Given the description of an element on the screen output the (x, y) to click on. 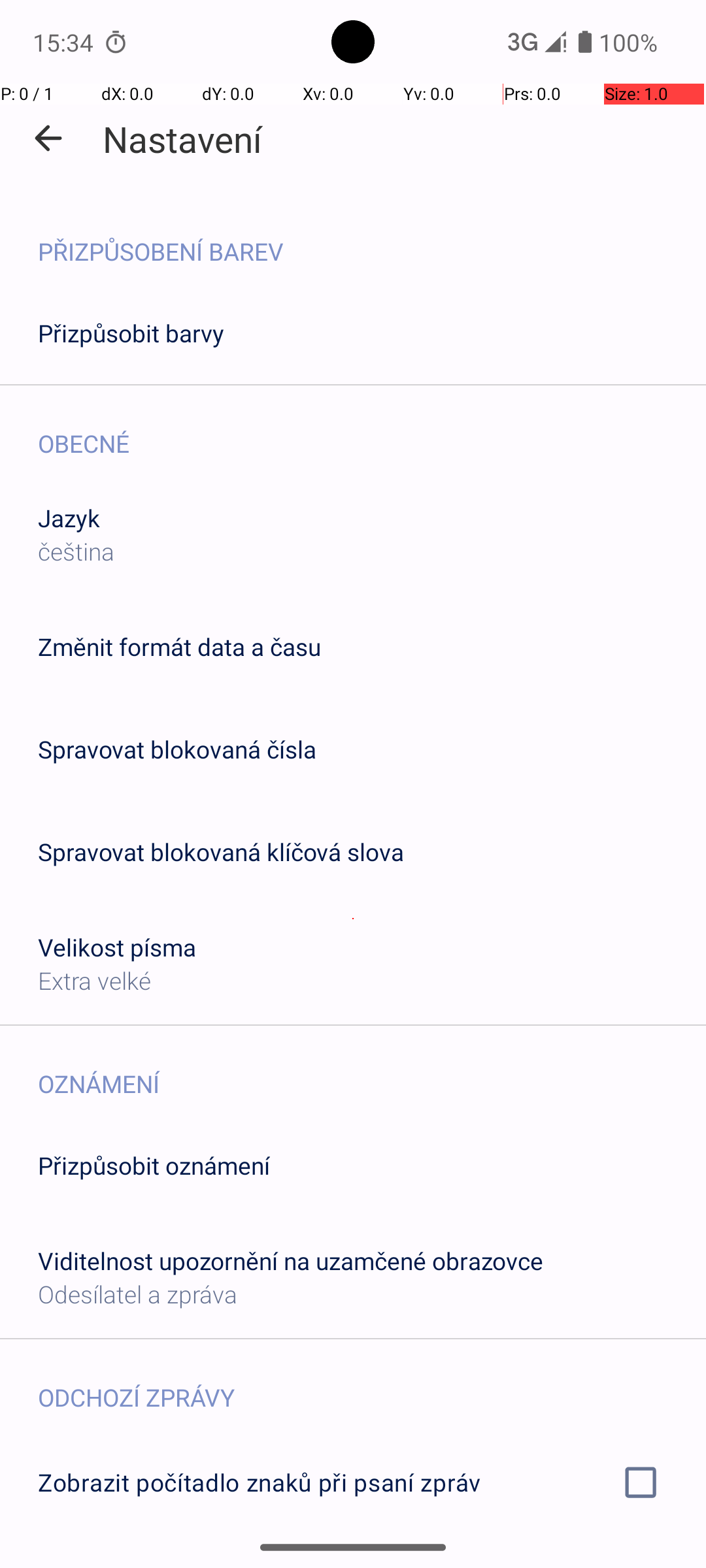
PŘIZPŮSOBENÍ BAREV Element type: android.widget.TextView (371, 237)
OBECNÉ Element type: android.widget.TextView (371, 429)
OZNÁMENÍ Element type: android.widget.TextView (371, 1069)
ODCHOZÍ ZPRÁVY Element type: android.widget.TextView (371, 1383)
Přizpůsobit barvy Element type: android.widget.TextView (130, 332)
Jazyk Element type: android.widget.TextView (68, 517)
čeština Element type: android.widget.TextView (75, 550)
Změnit formát data a času Element type: android.widget.TextView (178, 646)
Spravovat blokovaná čísla Element type: android.widget.TextView (176, 748)
Spravovat blokovaná klíčová slova Element type: android.widget.TextView (220, 851)
Velikost písma Element type: android.widget.TextView (116, 946)
Extra velké Element type: android.widget.TextView (94, 979)
Přizpůsobit oznámení Element type: android.widget.TextView (153, 1164)
Viditelnost upozornění na uzamčené obrazovce Element type: android.widget.TextView (290, 1260)
Odesílatel a zpráva Element type: android.widget.TextView (137, 1293)
Zobrazit počítadlo znaků při psaní zpráv Element type: android.widget.CheckBox (352, 1482)
Odstranit diakritiku při odesílání zprávy Element type: android.widget.CheckBox (352, 1559)
